Given the description of an element on the screen output the (x, y) to click on. 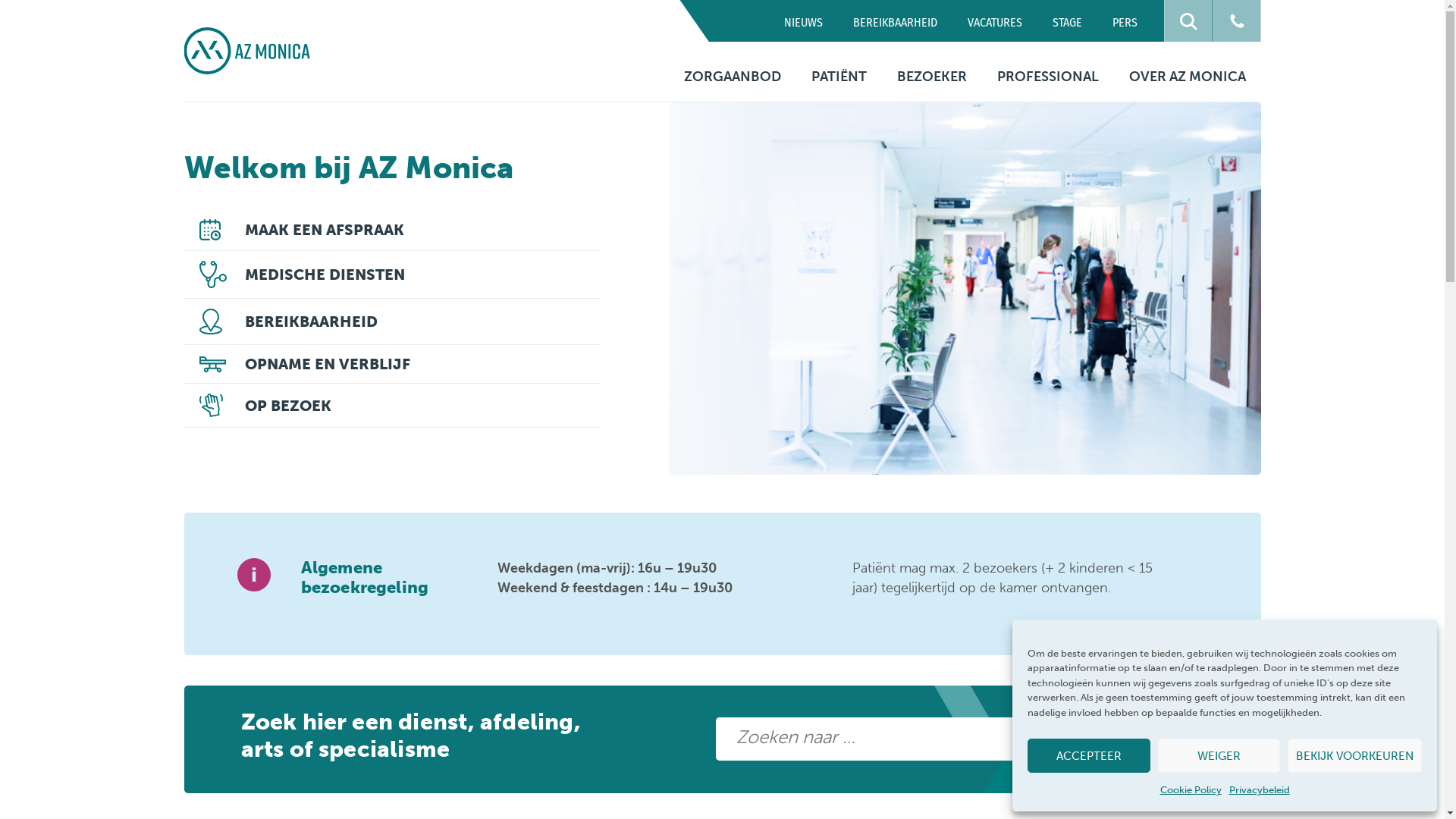
ZORGAANBOD Element type: text (732, 76)
OVER AZ MONICA Element type: text (1186, 76)
ZOEKEN Element type: text (1164, 738)
PROFESSIONAL Element type: text (1047, 76)
VACATURES Element type: text (994, 20)
BEKIJK VOORKEUREN Element type: text (1354, 755)
MEDISCHE DIENSTEN Element type: text (391, 274)
Privacybeleid Element type: text (1258, 790)
MAAK EEN AFSPRAAK Element type: text (391, 230)
WEIGER Element type: text (1218, 755)
OPNAME EN VERBLIJF Element type: text (391, 364)
ACCEPTEER Element type: text (1088, 755)
STAGE Element type: text (1067, 20)
BEREIKBAARHEID Element type: text (894, 20)
NIEUWS Element type: text (802, 20)
BEZOEKER Element type: text (931, 76)
BEREIKBAARHEID Element type: text (391, 321)
Ga naar de homepage Element type: hover (246, 50)
OP BEZOEK Element type: text (391, 405)
Cookie Policy Element type: text (1190, 790)
PERS Element type: text (1123, 20)
